Given the description of an element on the screen output the (x, y) to click on. 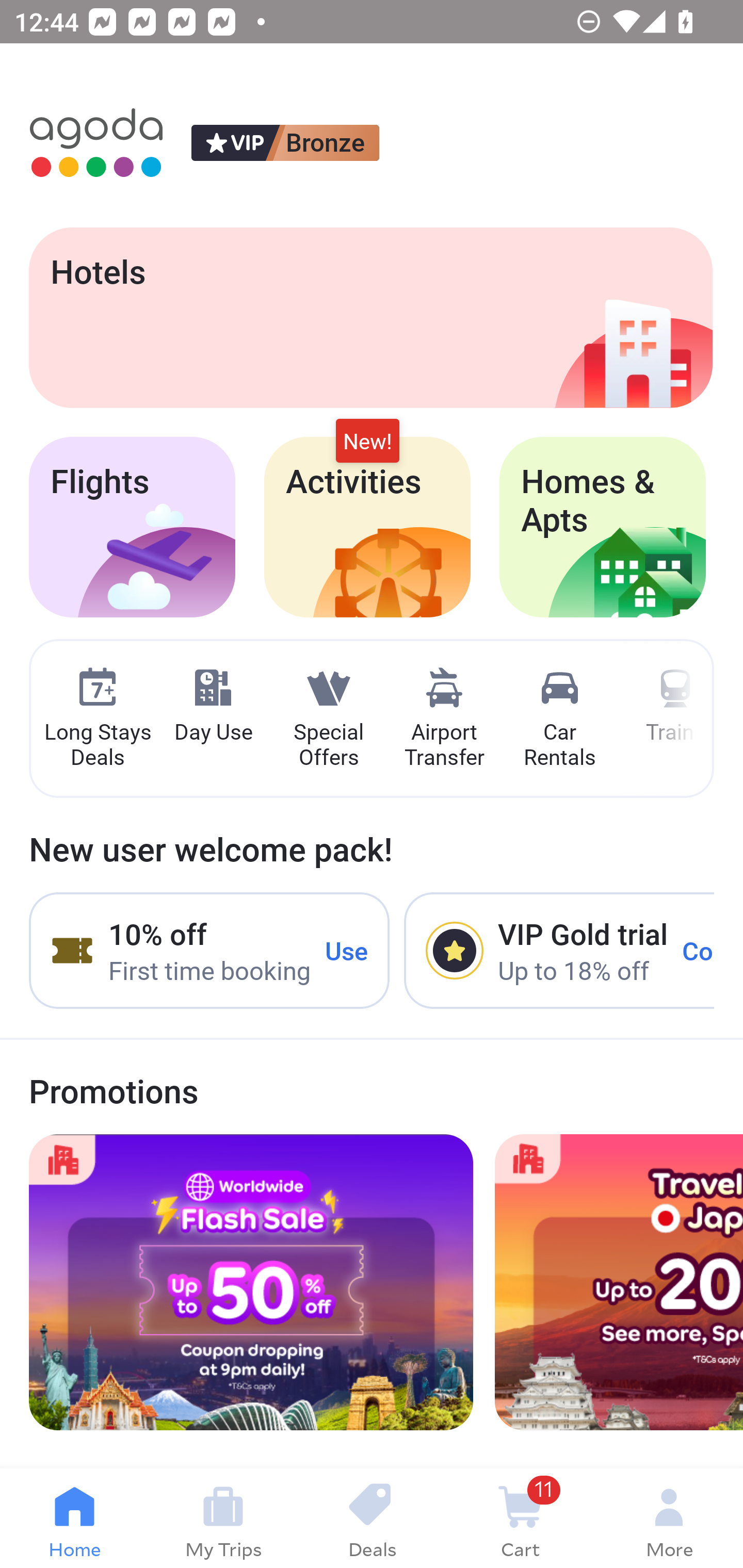
Hotels (370, 317)
New! (367, 441)
Flights (131, 527)
Activities (367, 527)
Homes & Apts (602, 527)
Day Use (213, 706)
Long Stays Deals (97, 718)
Special Offers (328, 718)
Airport Transfer (444, 718)
Car Rentals (559, 718)
Use (346, 950)
Home (74, 1518)
My Trips (222, 1518)
Deals (371, 1518)
11 Cart (519, 1518)
More (668, 1518)
